Given the description of an element on the screen output the (x, y) to click on. 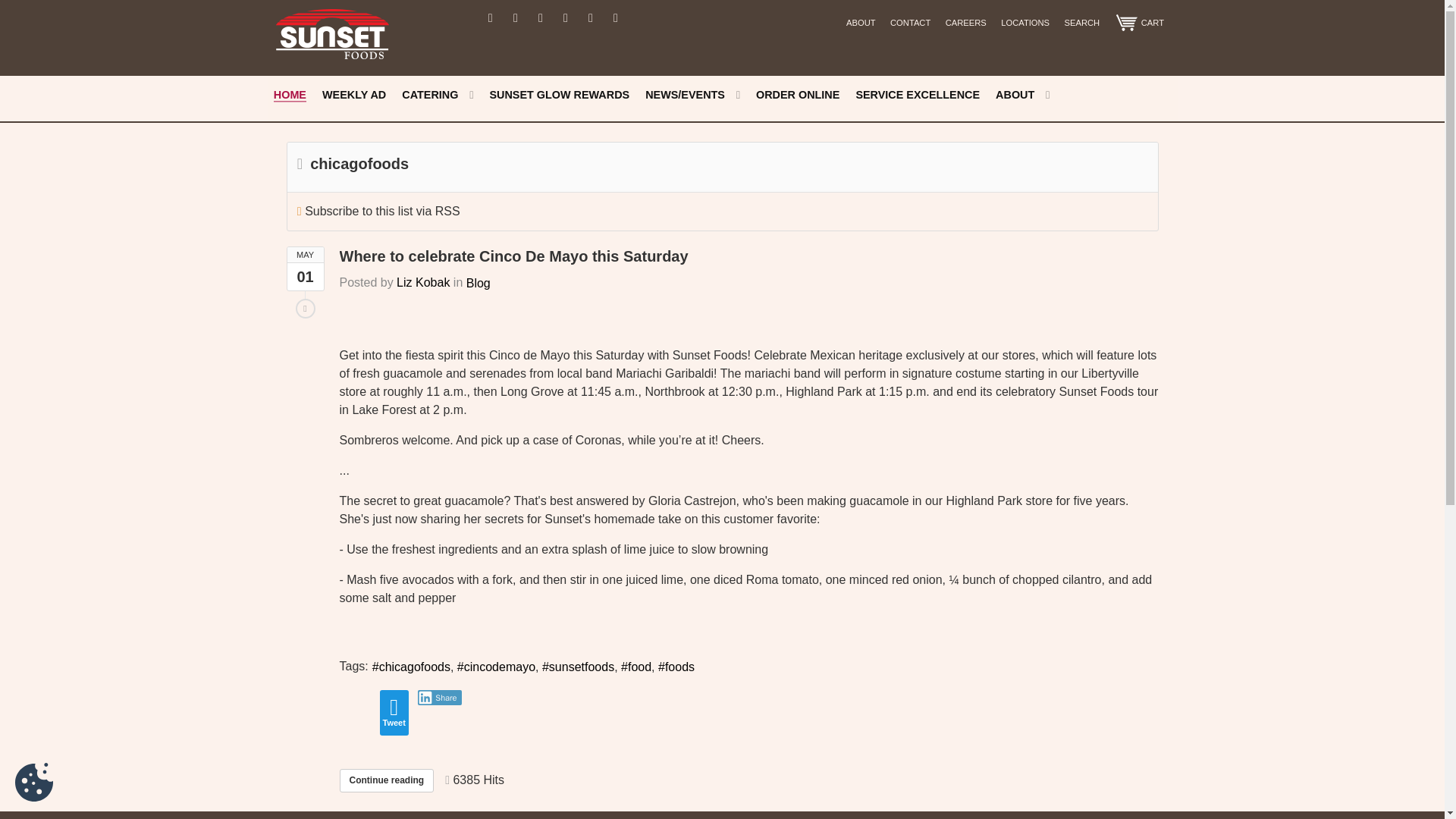
Shopping Cart Icon 32 (1138, 22)
HOME (289, 95)
Pinterest (590, 17)
Youtube (565, 17)
About (861, 22)
SUNSET GLOW REWARDS (558, 95)
CONTACT (910, 22)
SERVICE EXCELLENCE (917, 95)
LOCATIONS (1025, 22)
SUNSET LOGO 2CLR WHITE LOGO 152x70 (332, 32)
CAREERS (965, 22)
Locations (1025, 22)
Search (1081, 22)
SEARCH (1081, 22)
ABOUT (861, 22)
